Given the description of an element on the screen output the (x, y) to click on. 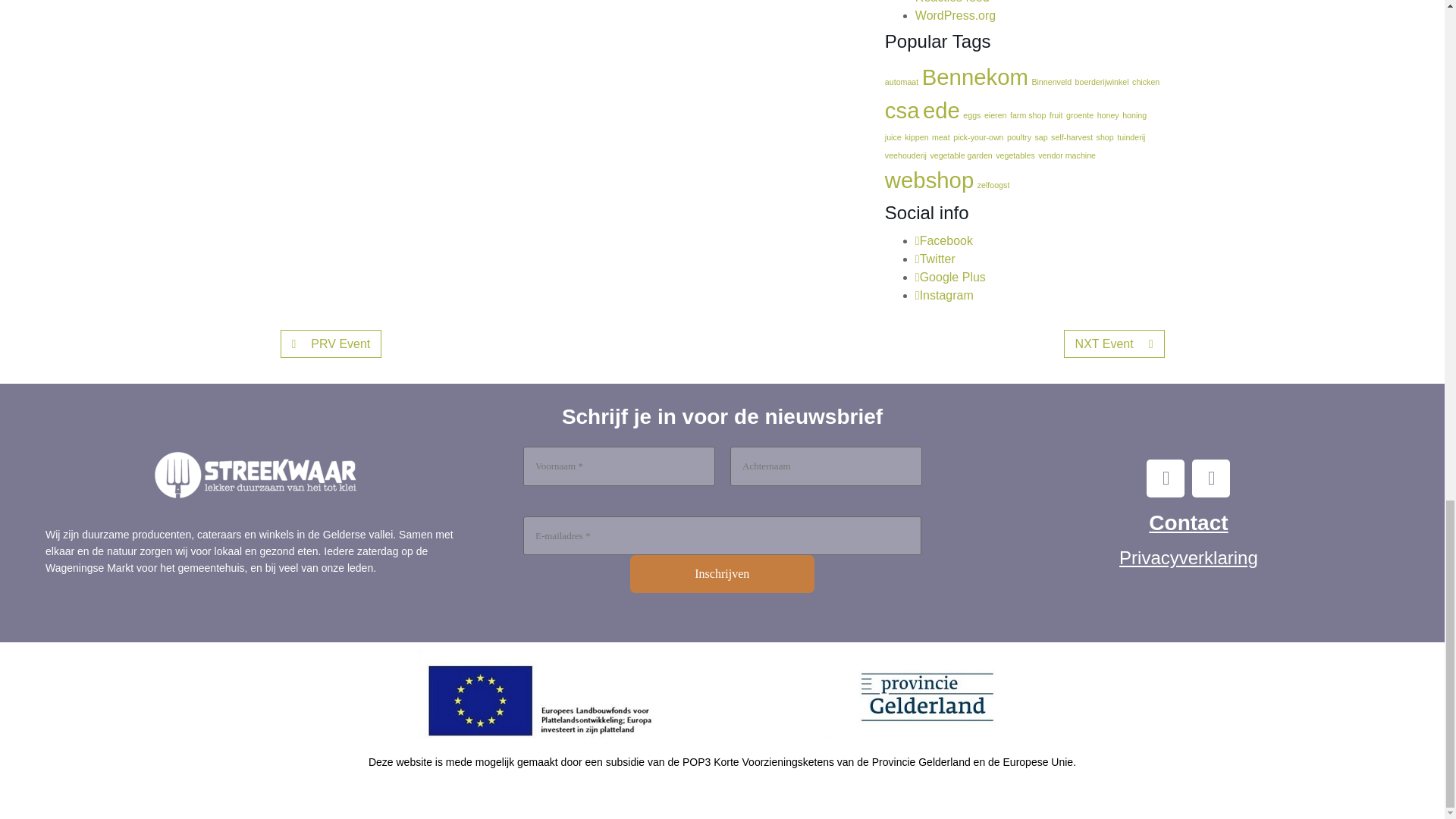
E-mailadres (721, 536)
Inschrijven (721, 573)
Achternaam (825, 466)
Voornaam (618, 466)
